Given the description of an element on the screen output the (x, y) to click on. 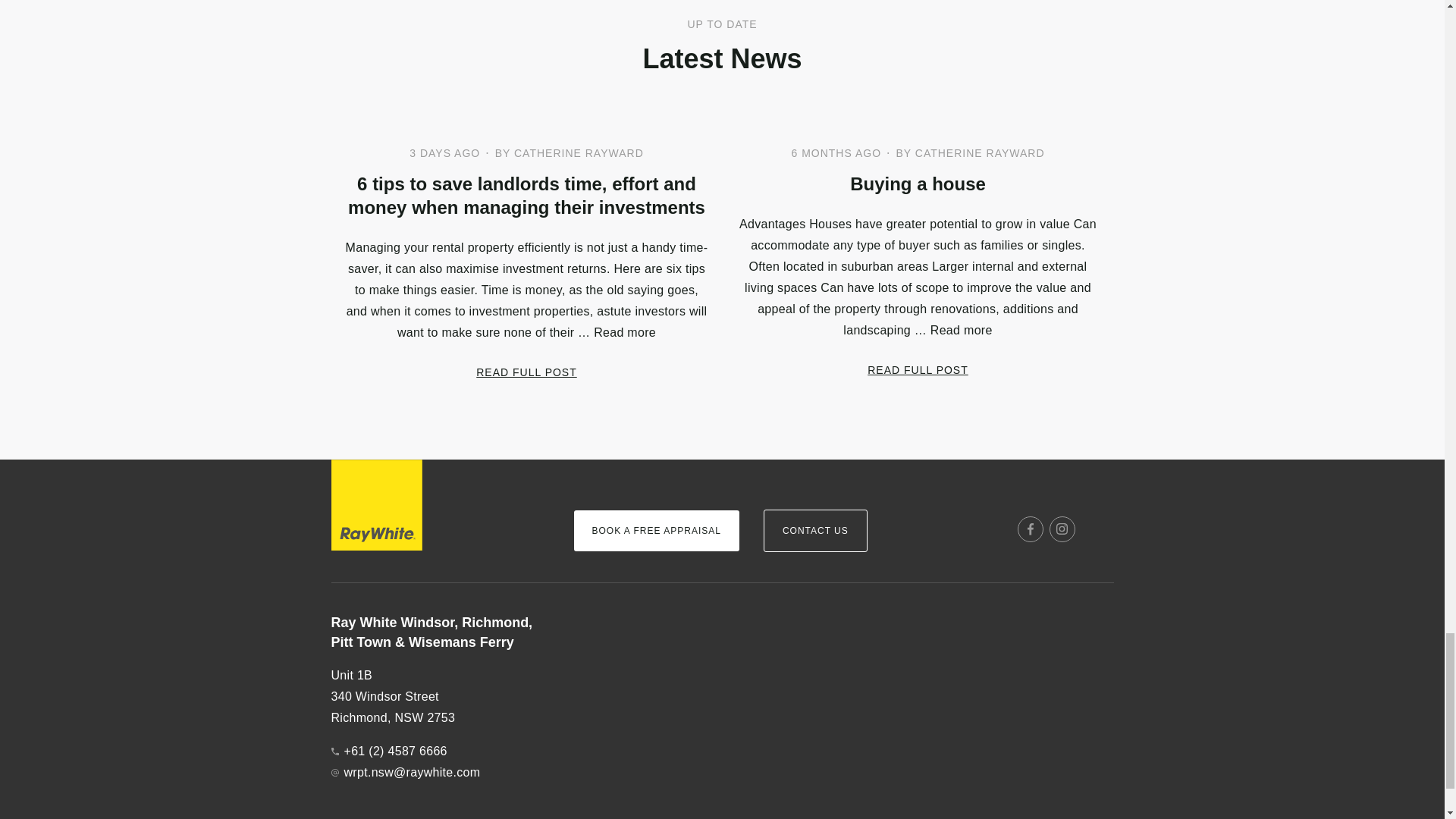
Buying a house (916, 183)
BOOK A FREE APPRAISAL (655, 530)
READ FULL POST (917, 369)
Instagram (1062, 529)
Facebook (1030, 529)
READ FULL POST (526, 371)
Ray White (376, 504)
CONTACT US (814, 530)
